Given the description of an element on the screen output the (x, y) to click on. 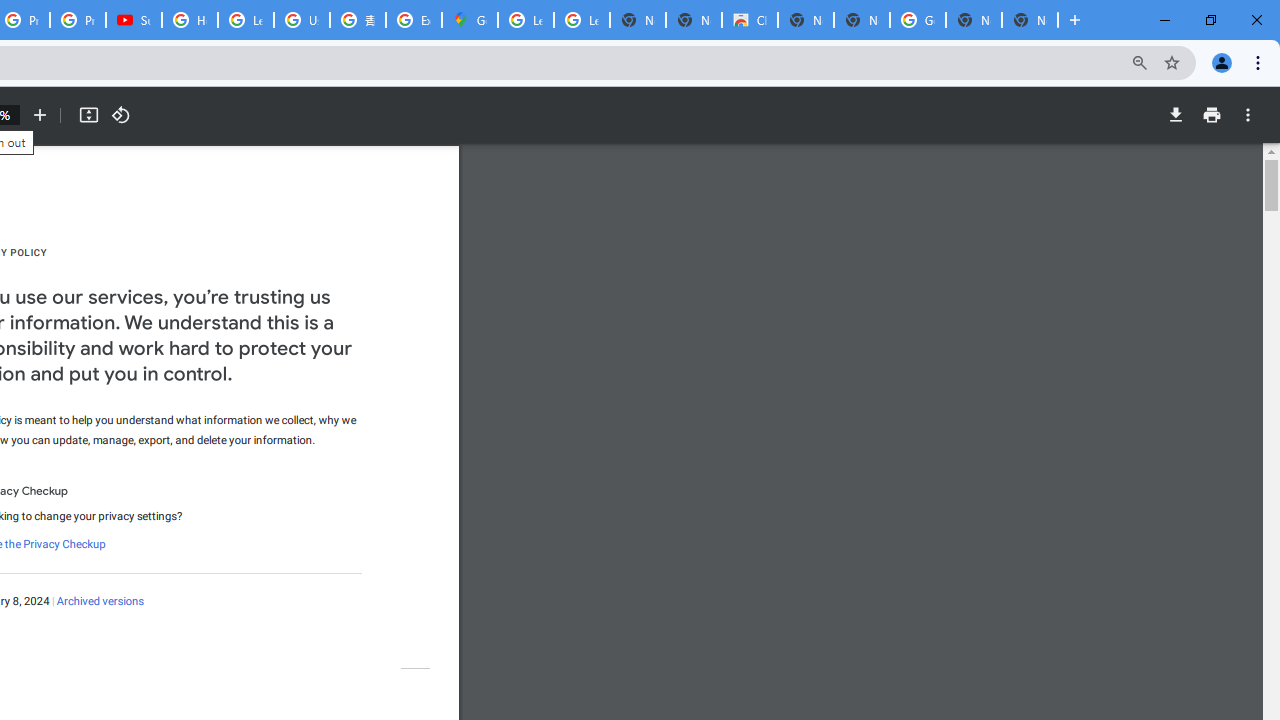
Explore new street-level details - Google Maps Help (413, 20)
New Tab (1030, 20)
Subscriptions - YouTube (134, 20)
Chrome Web Store (749, 20)
More actions (1247, 115)
Google Images (917, 20)
Print (1211, 115)
Rotate counterclockwise (119, 115)
How Chrome protects your passwords - Google Chrome Help (189, 20)
